Given the description of an element on the screen output the (x, y) to click on. 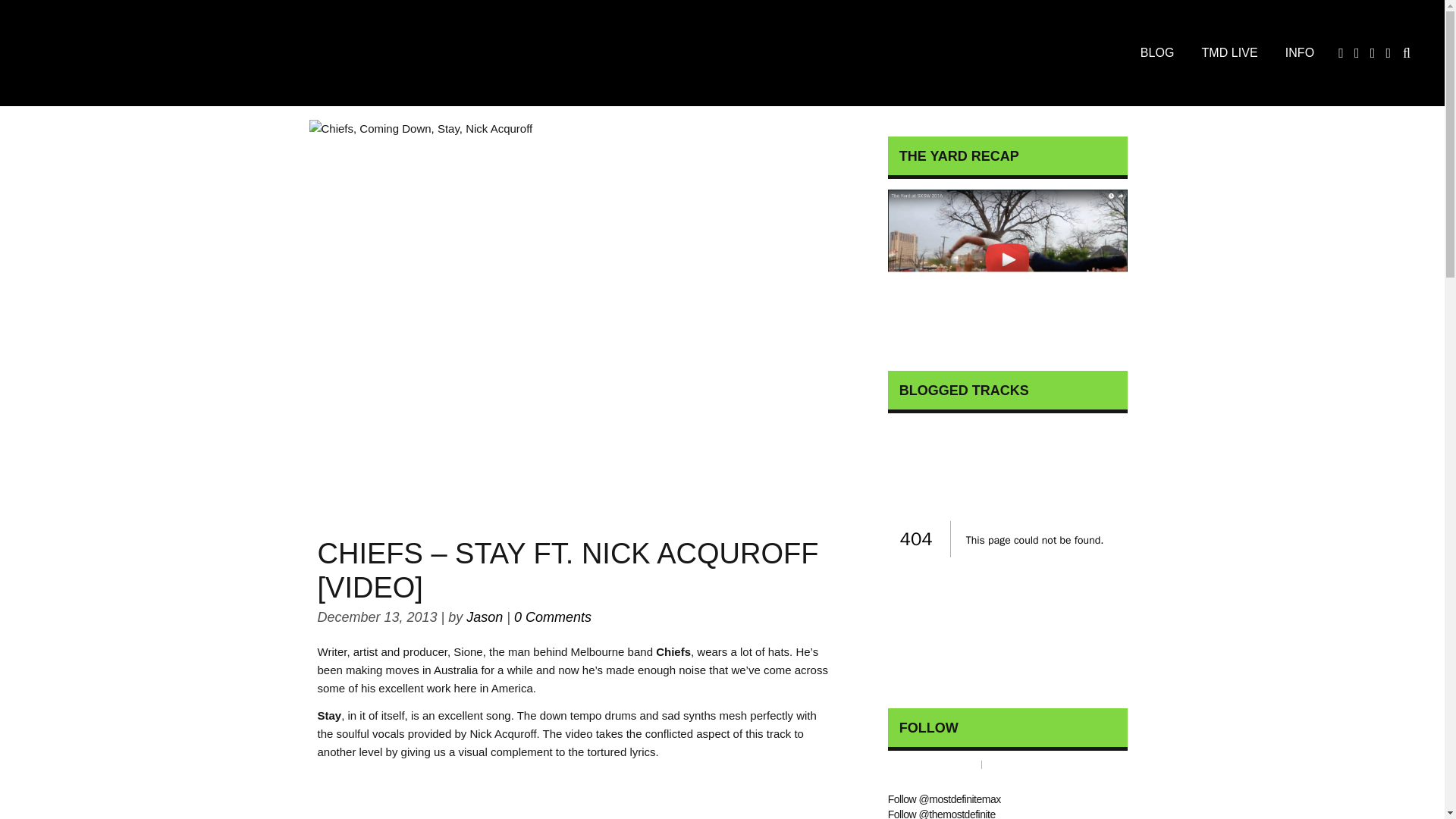
Jason (483, 616)
0 Comments (552, 616)
